Given the description of an element on the screen output the (x, y) to click on. 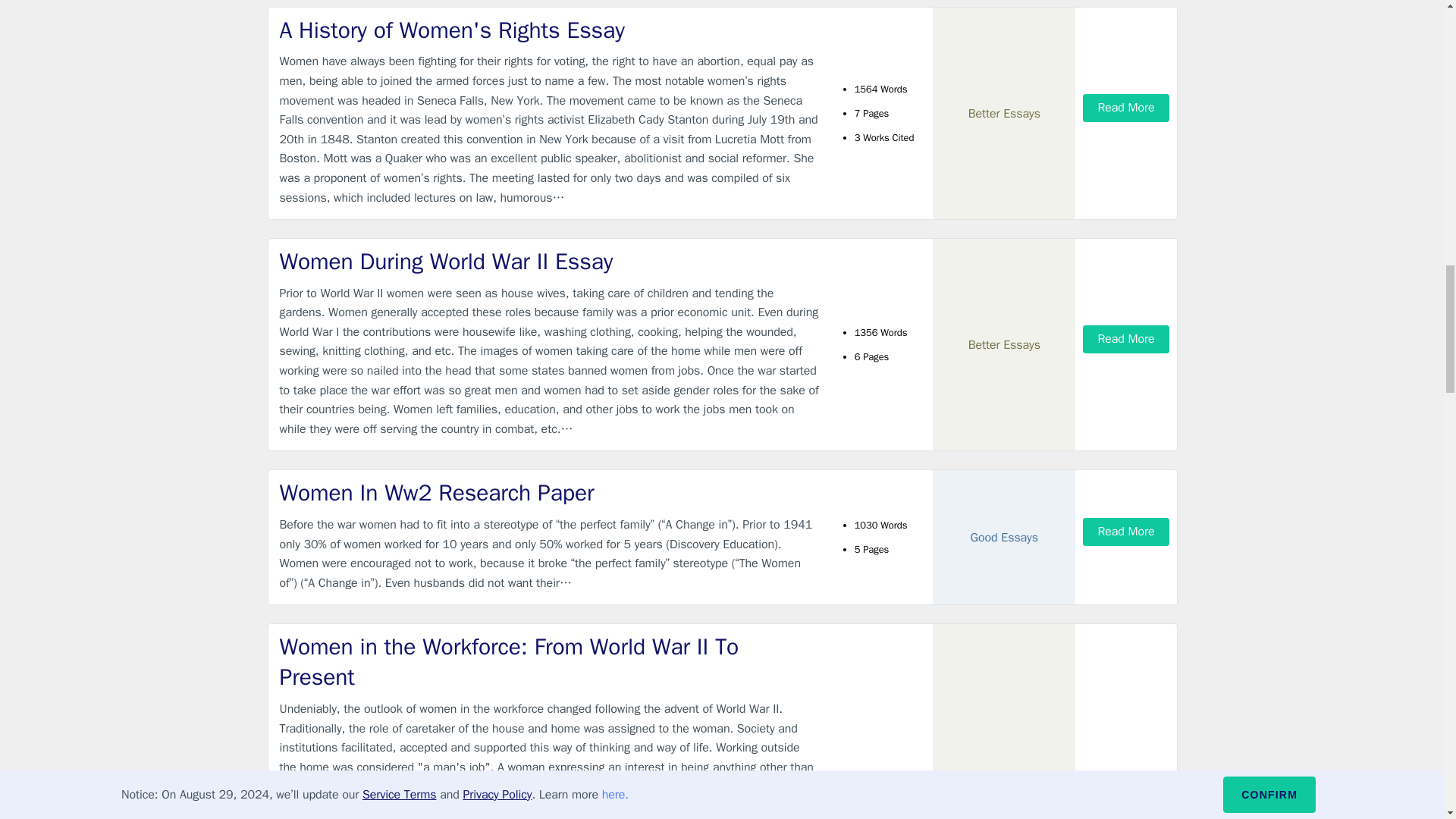
Women In Ww2 Research Paper (548, 492)
Read More (1126, 806)
Women During World War II Essay (548, 261)
Read More (1126, 338)
A History of Women's Rights Essay (548, 30)
Read More (1126, 108)
Read More (1126, 531)
Women in the Workforce: From World War II To Present (548, 661)
